Given the description of an element on the screen output the (x, y) to click on. 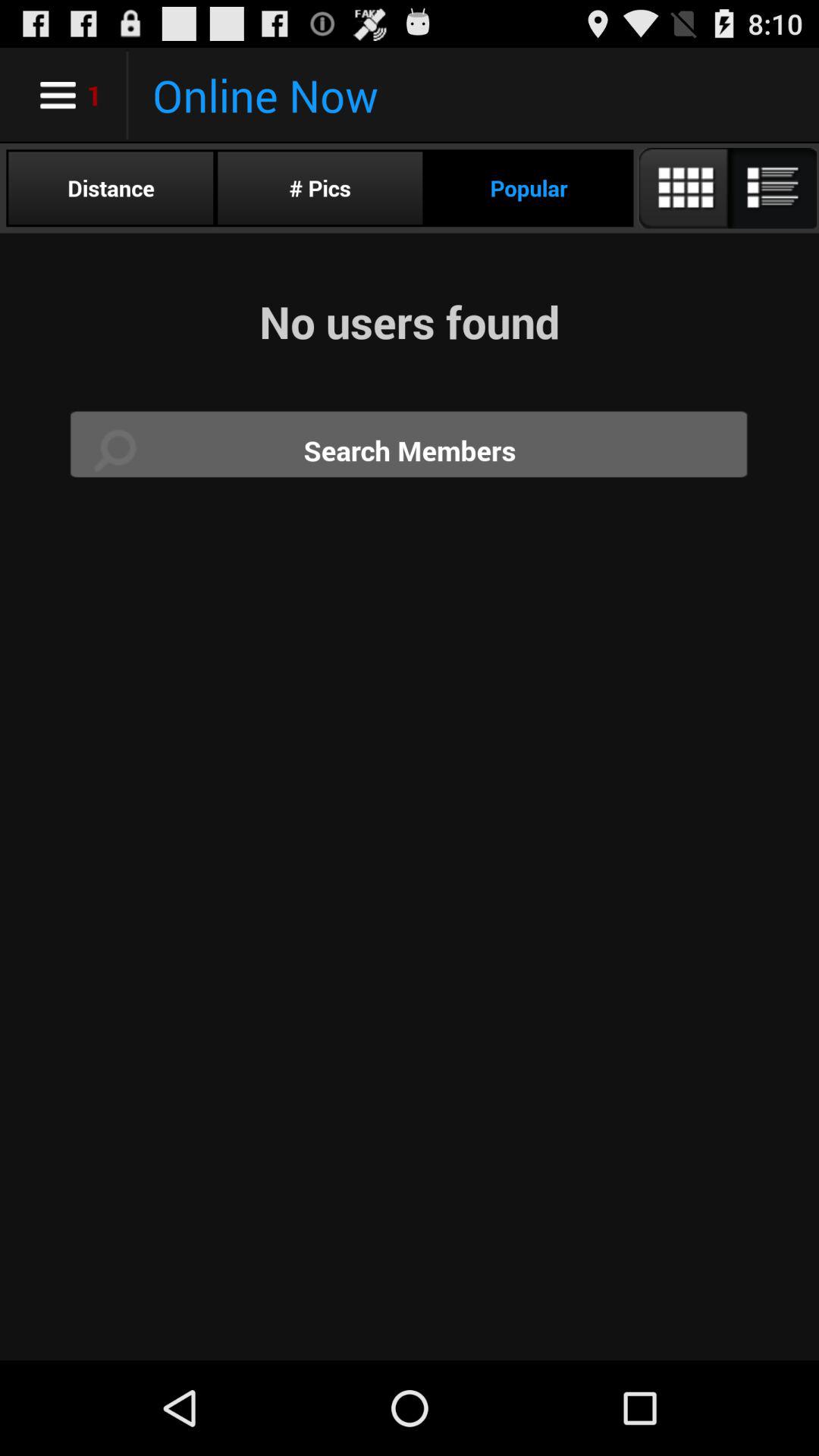
search members (409, 450)
